Given the description of an element on the screen output the (x, y) to click on. 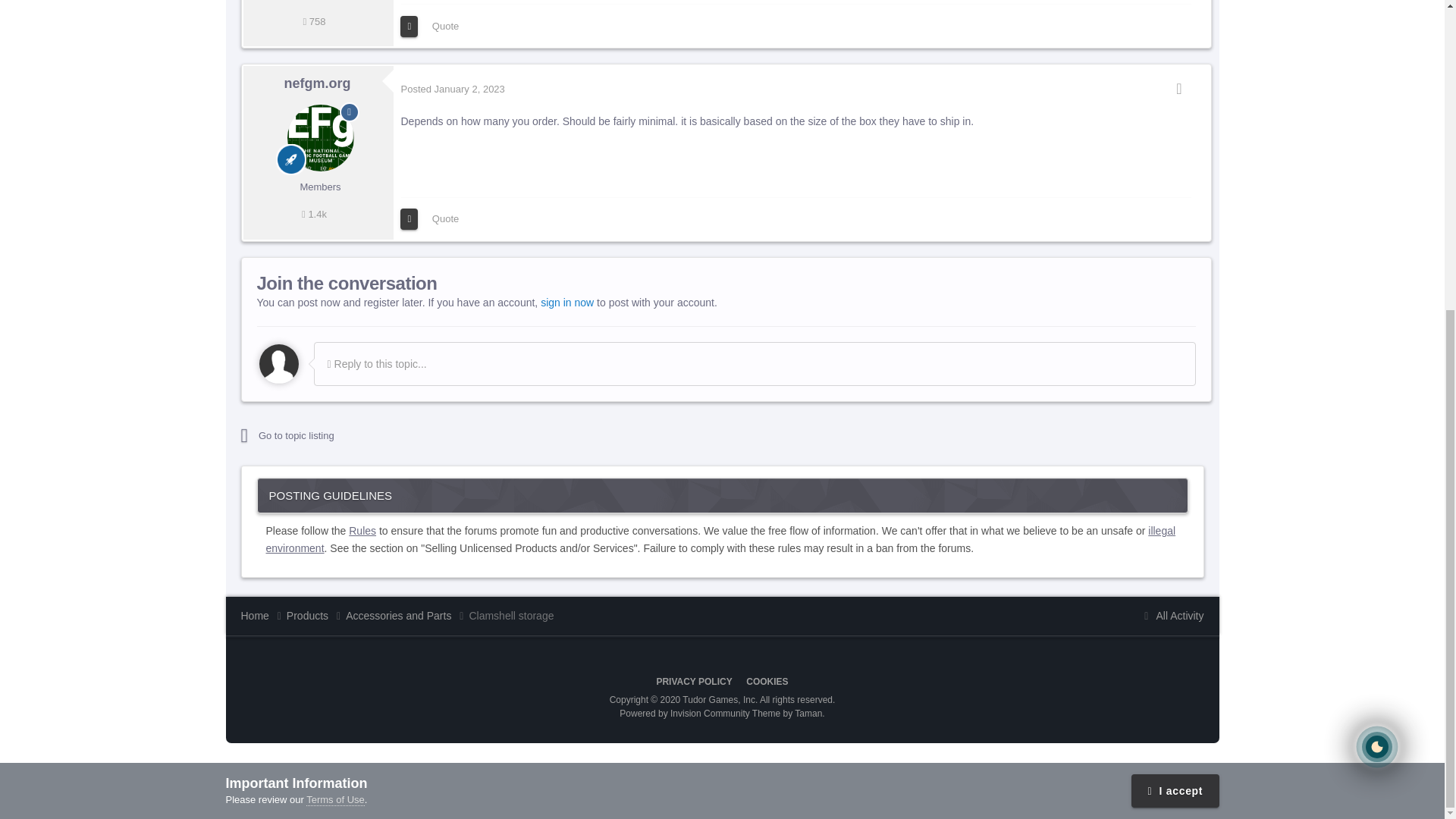
758 posts (313, 21)
